Given the description of an element on the screen output the (x, y) to click on. 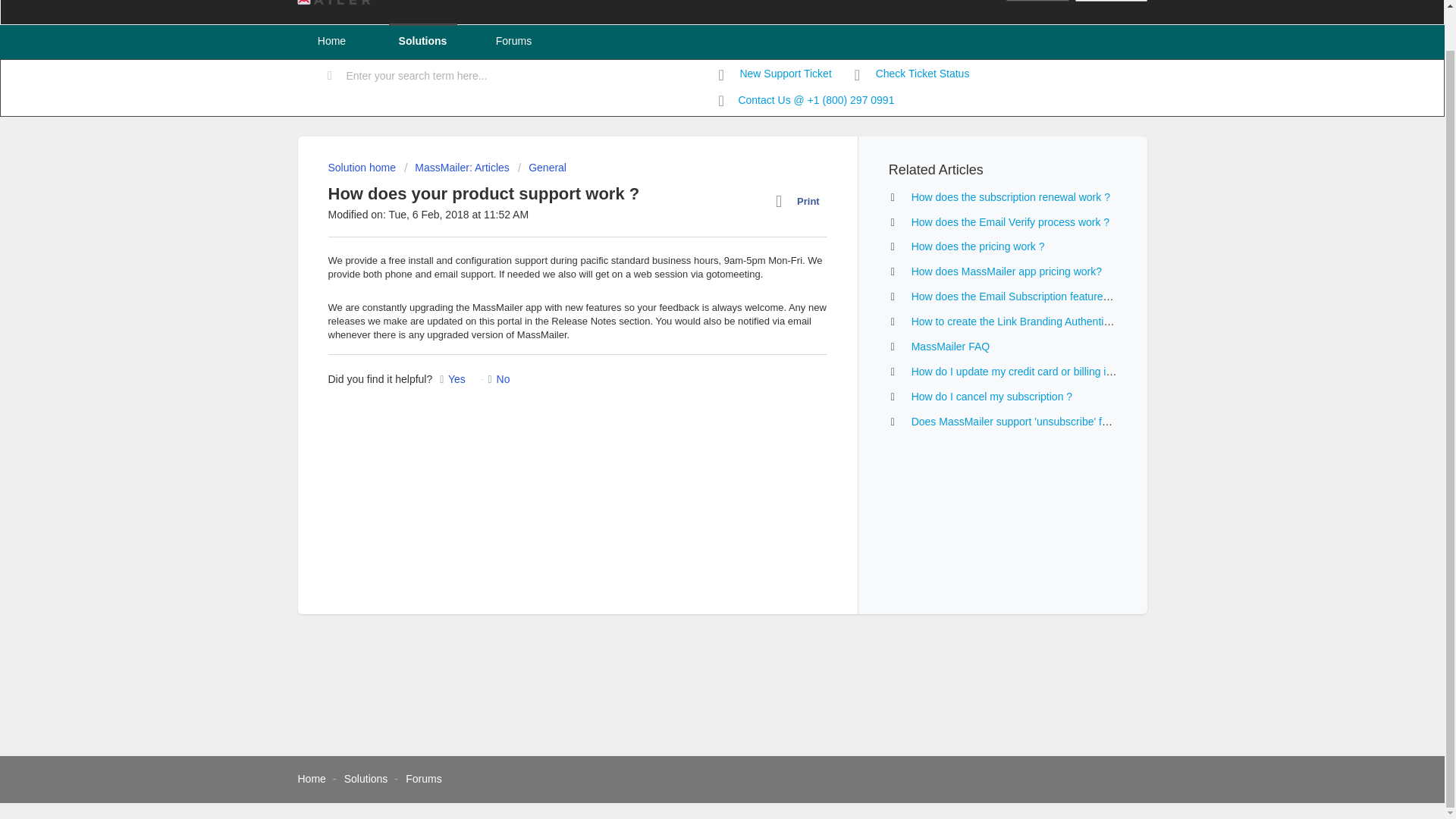
SIGN UP (1111, 0)
New Support Ticket (775, 73)
Forums (513, 40)
Print (801, 201)
Print this Article (801, 201)
How does the Email Subscription feature work in MassMailer? (1056, 296)
New support ticket (775, 73)
How does the subscription renewal work ? (1010, 196)
MassMailer FAQ (950, 346)
How does the Email Verify process work ? (1010, 222)
How does MassMailer app pricing work? (1006, 271)
Solutions (365, 778)
How do I update my credit card or billing information ? (1038, 371)
Forums (423, 778)
